Given the description of an element on the screen output the (x, y) to click on. 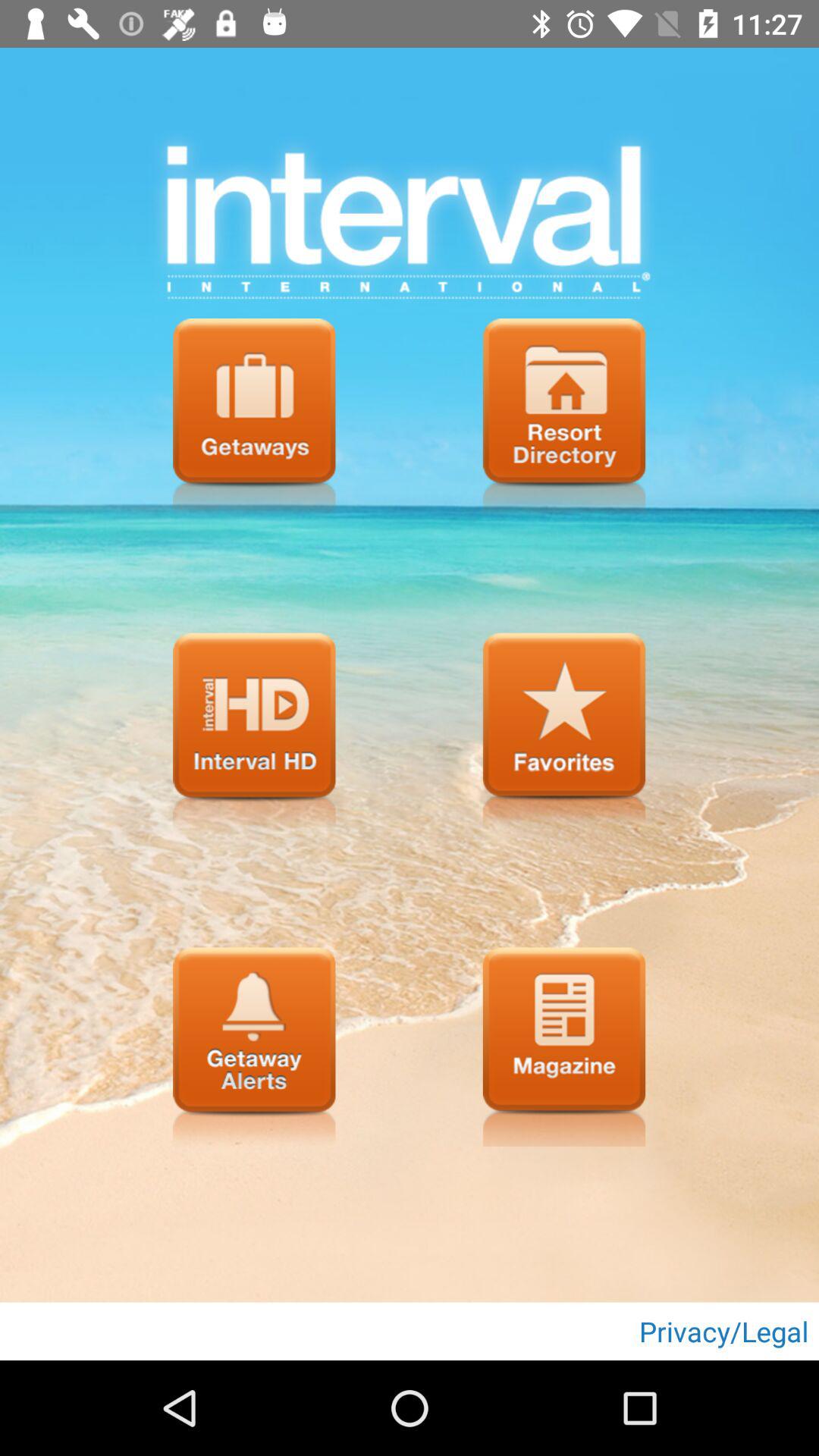
display getaway alerts (253, 1046)
